Given the description of an element on the screen output the (x, y) to click on. 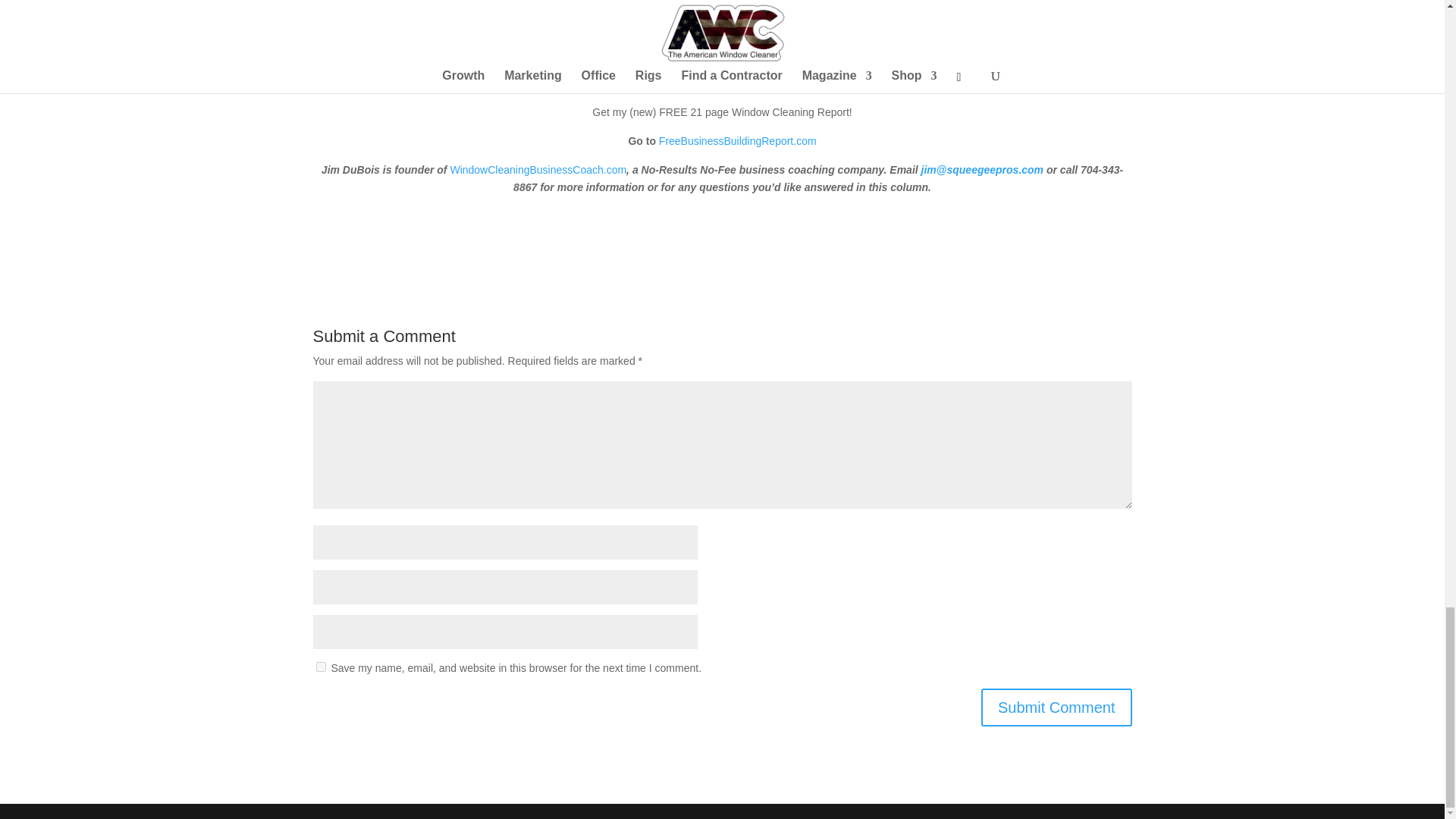
Submit Comment (1056, 707)
yes (319, 666)
